Given the description of an element on the screen output the (x, y) to click on. 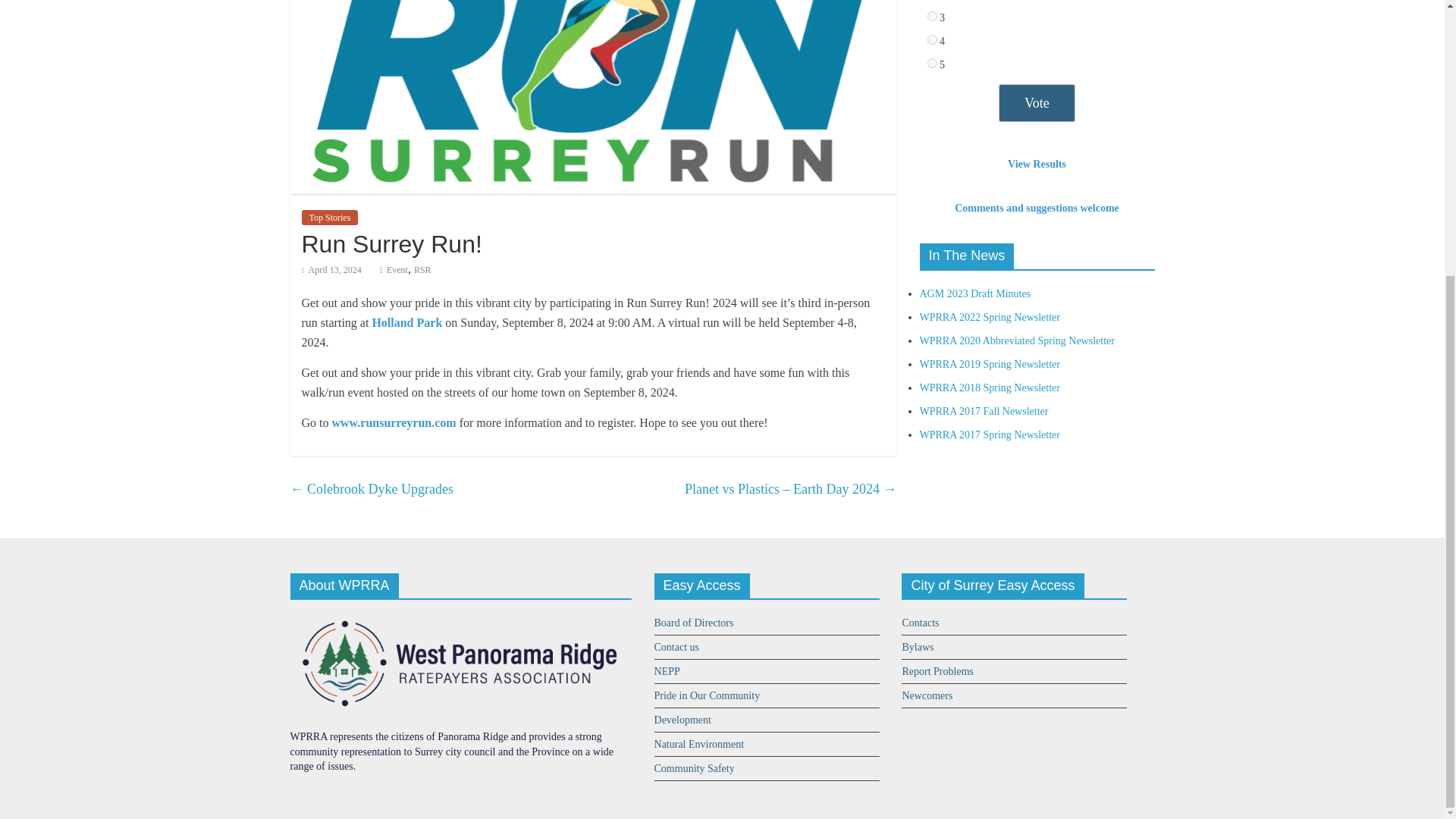
32 (931, 40)
PanaromaRidge (459, 618)
31 (931, 16)
Natural Environment (698, 744)
April 13, 2024 (331, 269)
RSR (421, 269)
View Results (1036, 163)
Comments and suggestions welcome (1037, 207)
Holland Park (406, 322)
33 (931, 62)
